Given the description of an element on the screen output the (x, y) to click on. 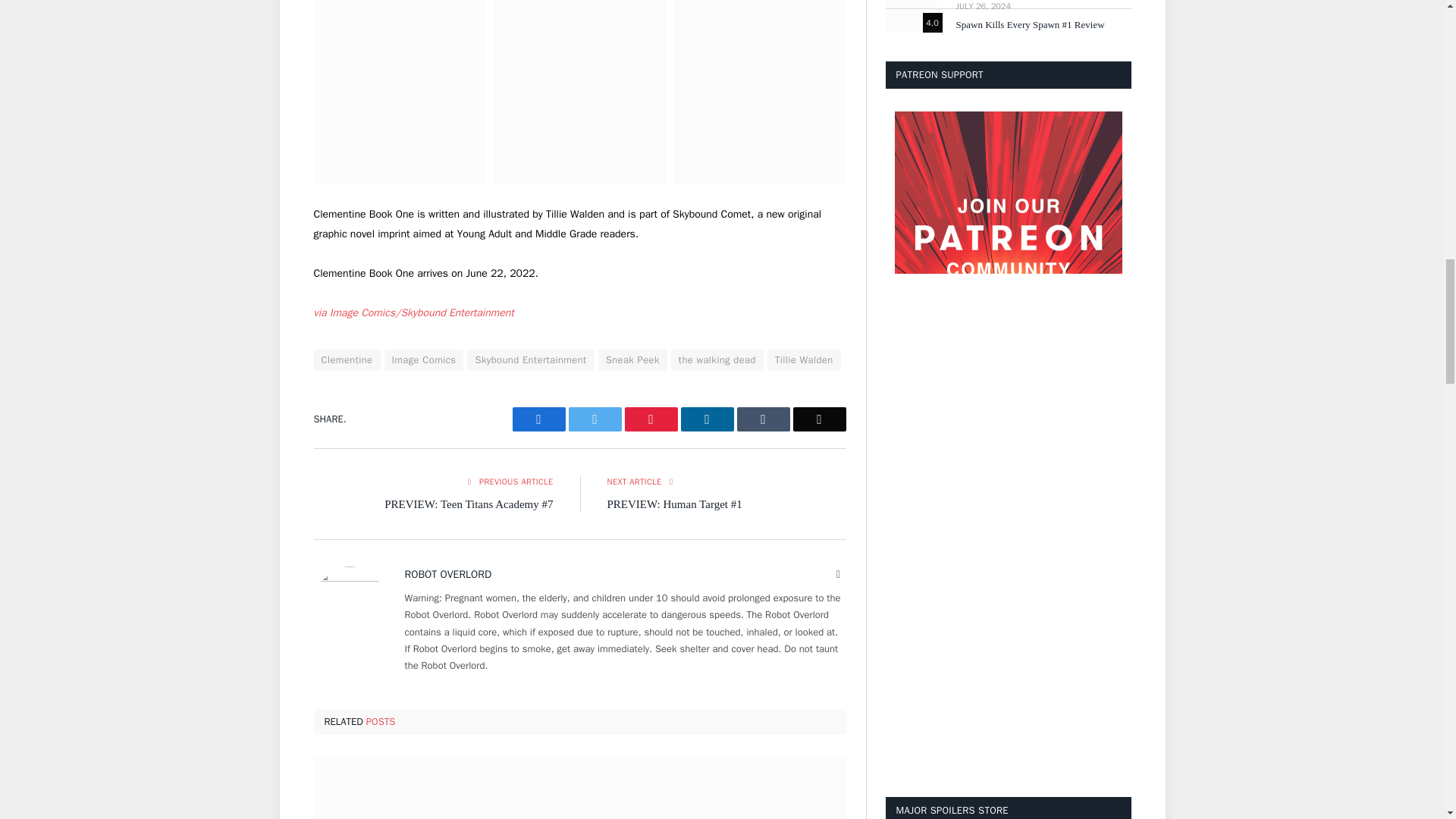
Share on Facebook (539, 419)
Share on Twitter (595, 419)
Share on LinkedIn (707, 419)
Share on Pinterest (651, 419)
